Given the description of an element on the screen output the (x, y) to click on. 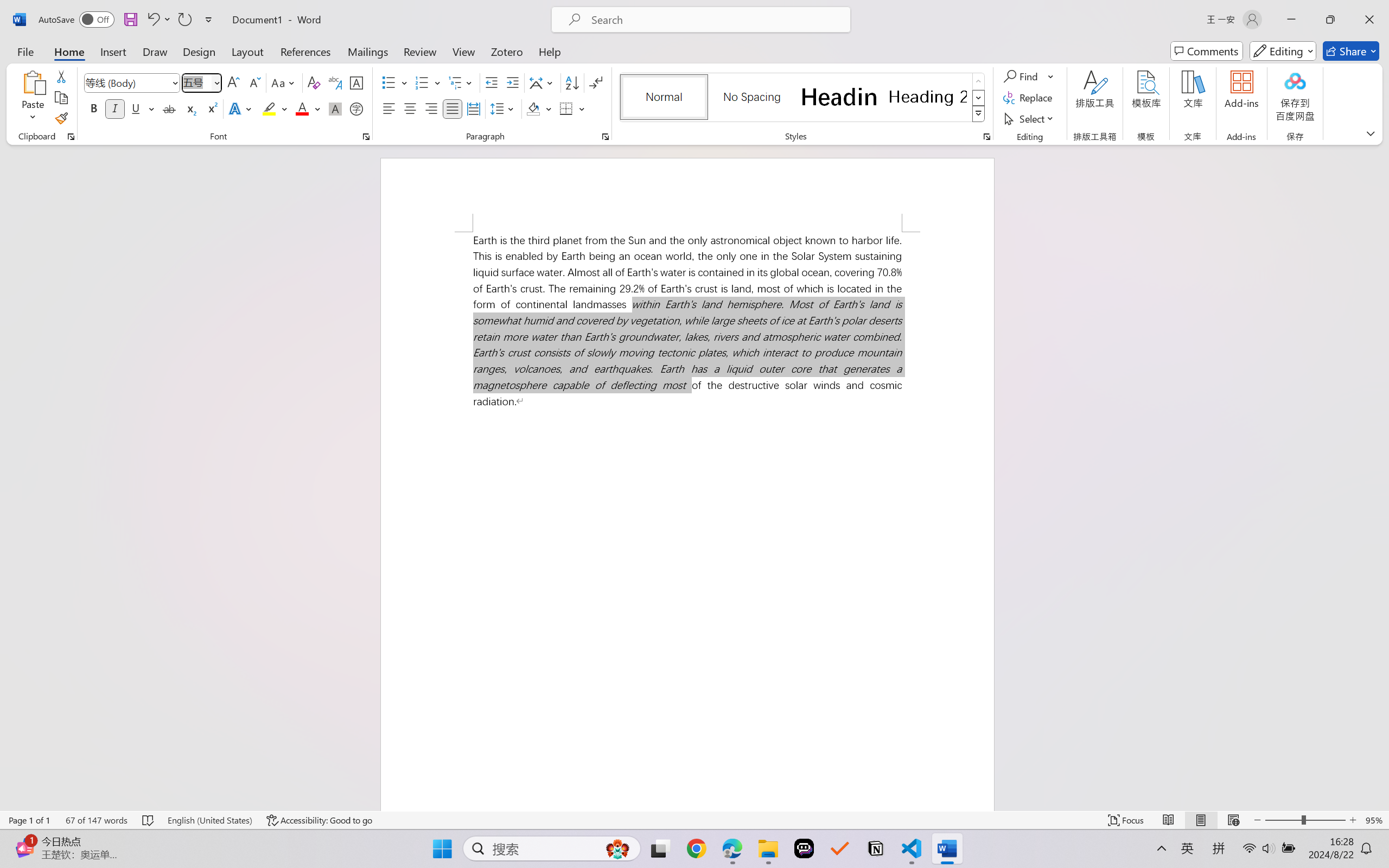
Change Case (284, 82)
Help (549, 51)
Font Color Red (302, 108)
Text Highlight Color (274, 108)
Shading RGB(0, 0, 0) (533, 108)
Row up (978, 81)
